Given the description of an element on the screen output the (x, y) to click on. 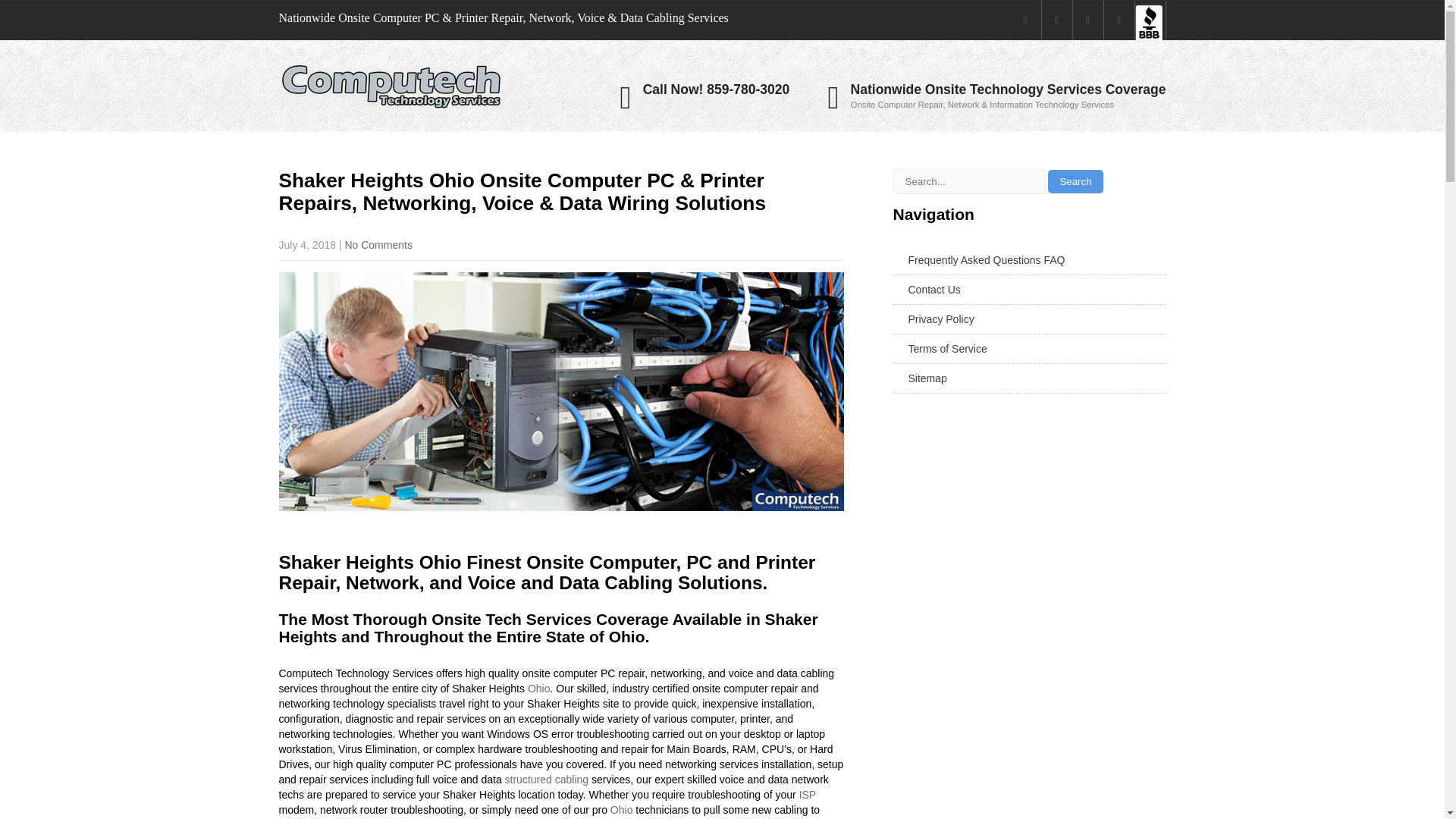
Search (1075, 181)
ISP (807, 794)
No Comments (377, 244)
Search (1075, 181)
structured cabling (547, 779)
Ohio (621, 809)
Ohio (538, 688)
